Given the description of an element on the screen output the (x, y) to click on. 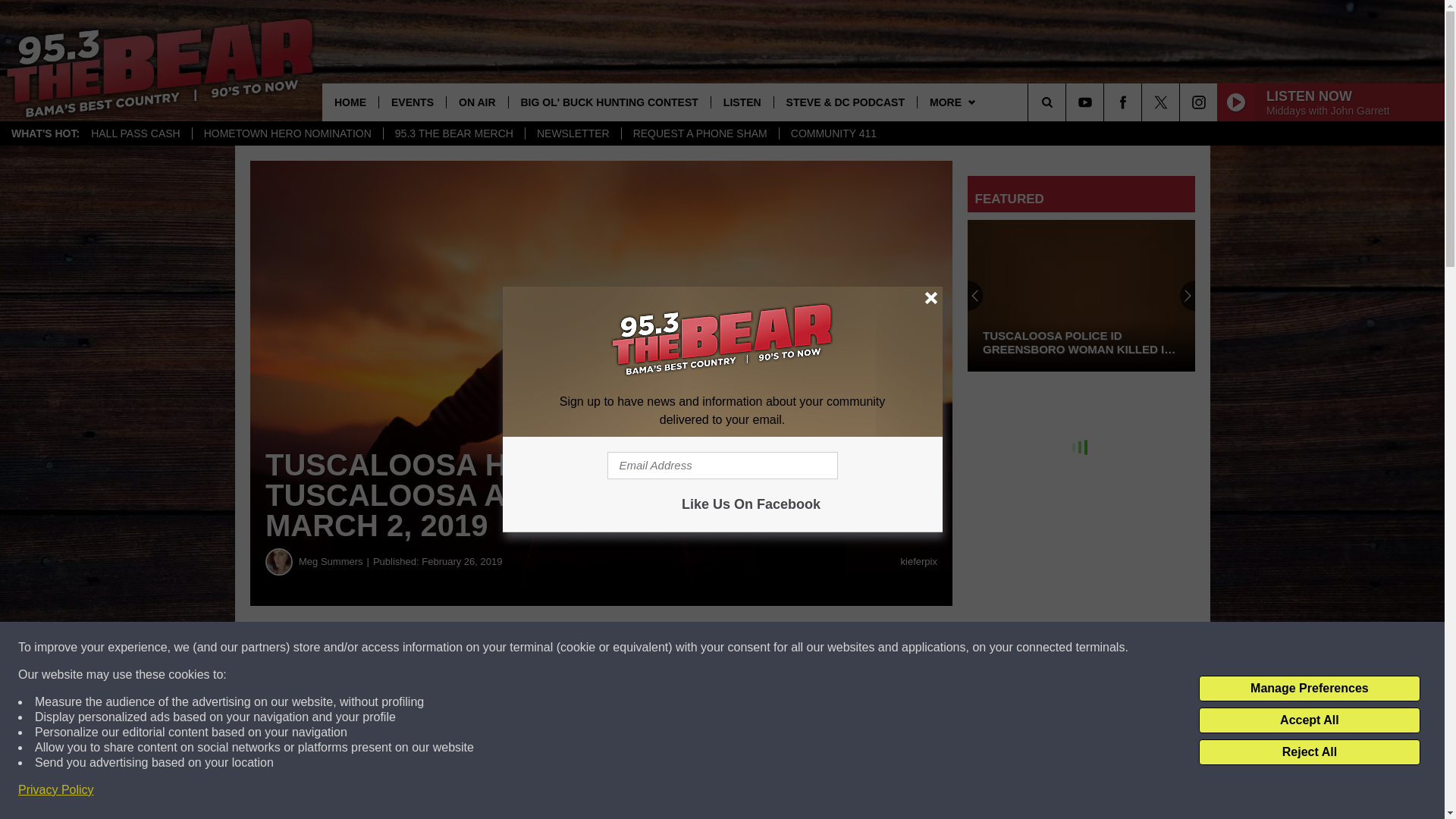
REQUEST A PHONE SHAM (699, 133)
Privacy Policy (55, 789)
Email Address (722, 465)
Share on Facebook (460, 647)
SEARCH (1068, 102)
BIG OL' BUCK HUNTING CONTEST (609, 102)
95.3 THE BEAR MERCH (453, 133)
Share on Twitter (741, 647)
NEWSLETTER (572, 133)
LISTEN (741, 102)
SEARCH (1068, 102)
HOMETOWN HERO NOMINATION (287, 133)
Reject All (1309, 751)
Manage Preferences (1309, 688)
HOME (349, 102)
